Given the description of an element on the screen output the (x, y) to click on. 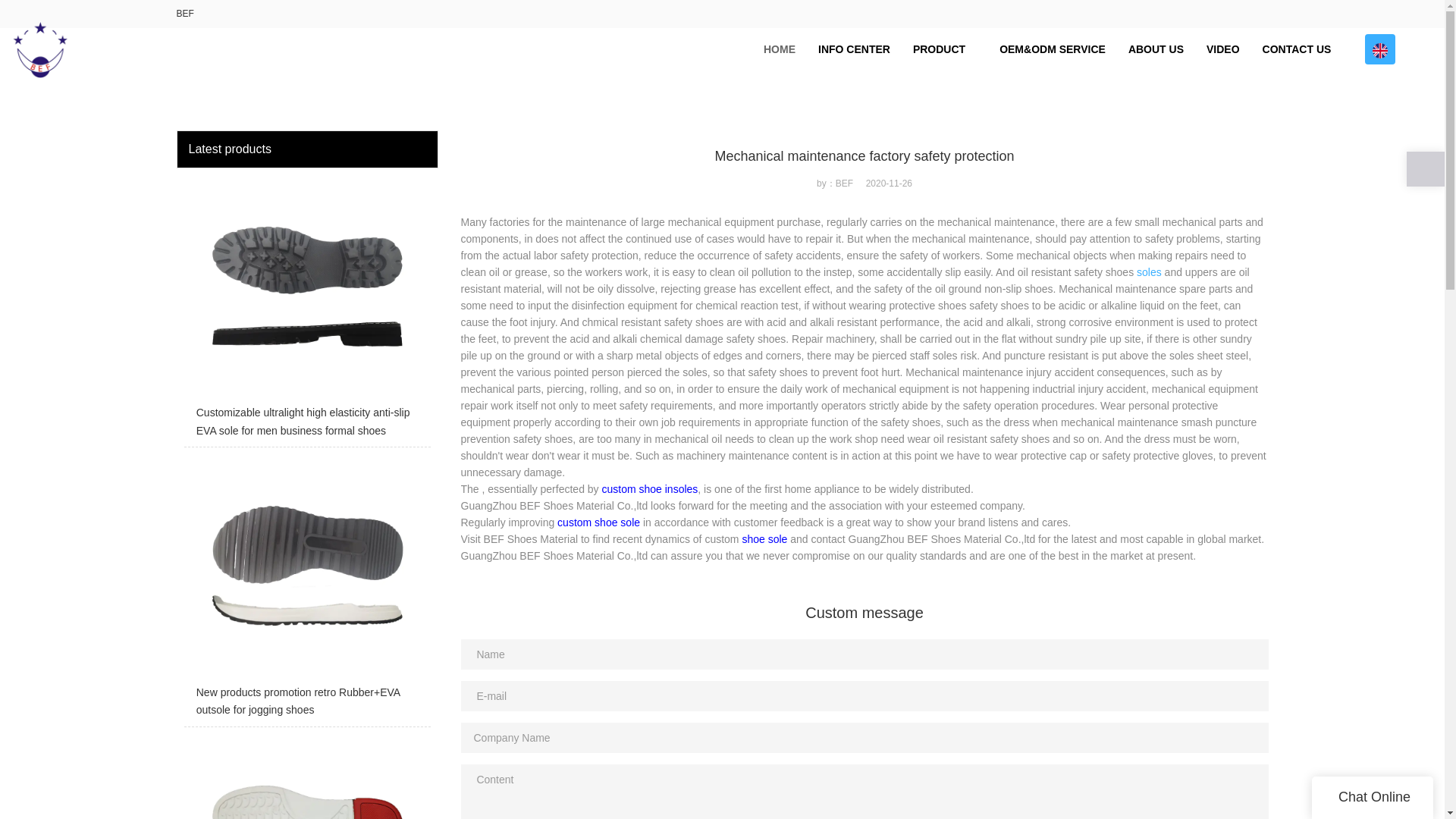
custom shoe insoles (650, 489)
PRODUCT (944, 49)
CONTACT US (1296, 49)
shoe sole (764, 539)
custom shoe sole (598, 522)
INFO CENTER (853, 49)
ABOUT US (1155, 49)
soles (1149, 272)
BEF (184, 13)
